Given the description of an element on the screen output the (x, y) to click on. 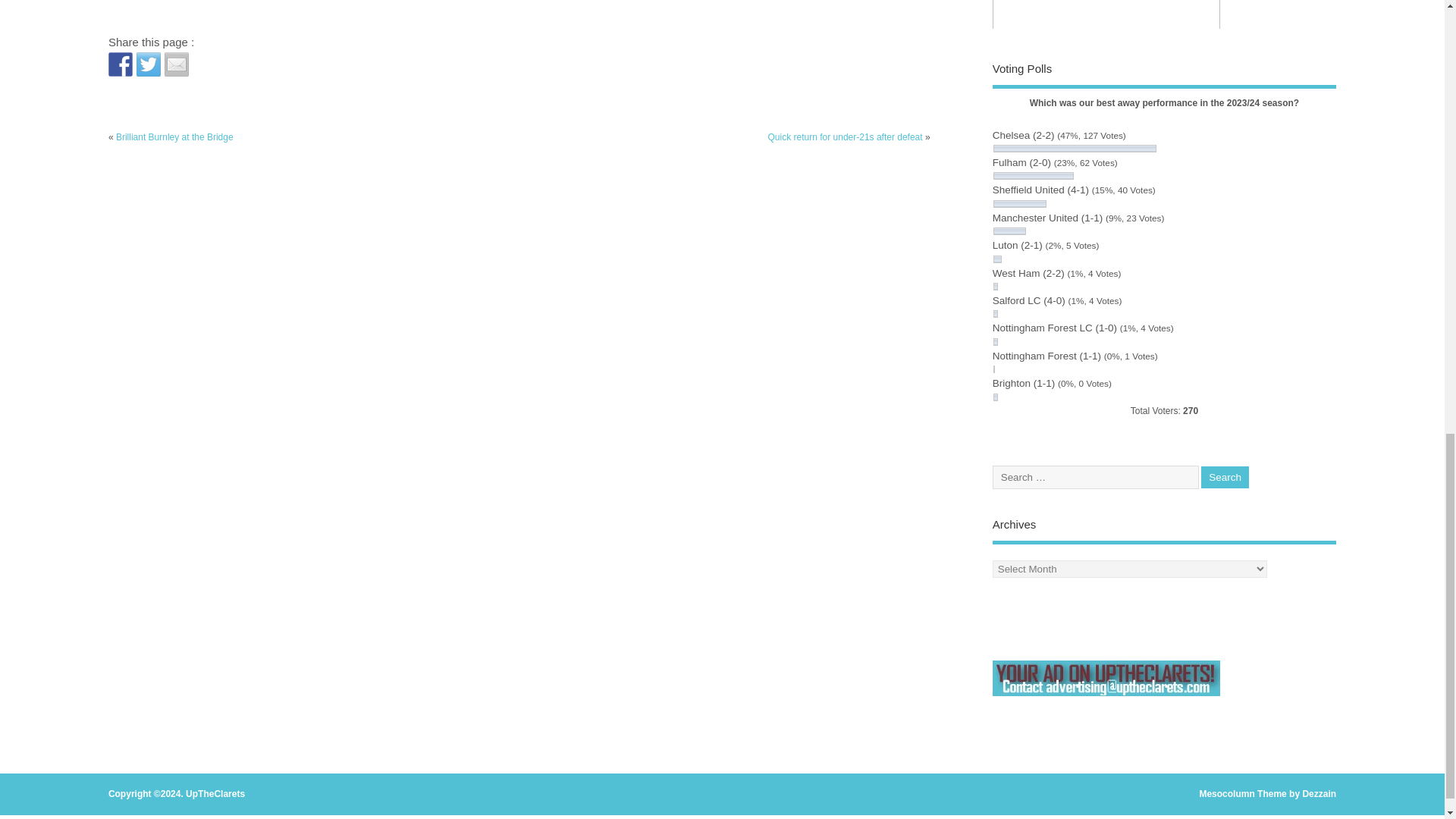
Search (1225, 477)
Search (1225, 477)
